Given the description of an element on the screen output the (x, y) to click on. 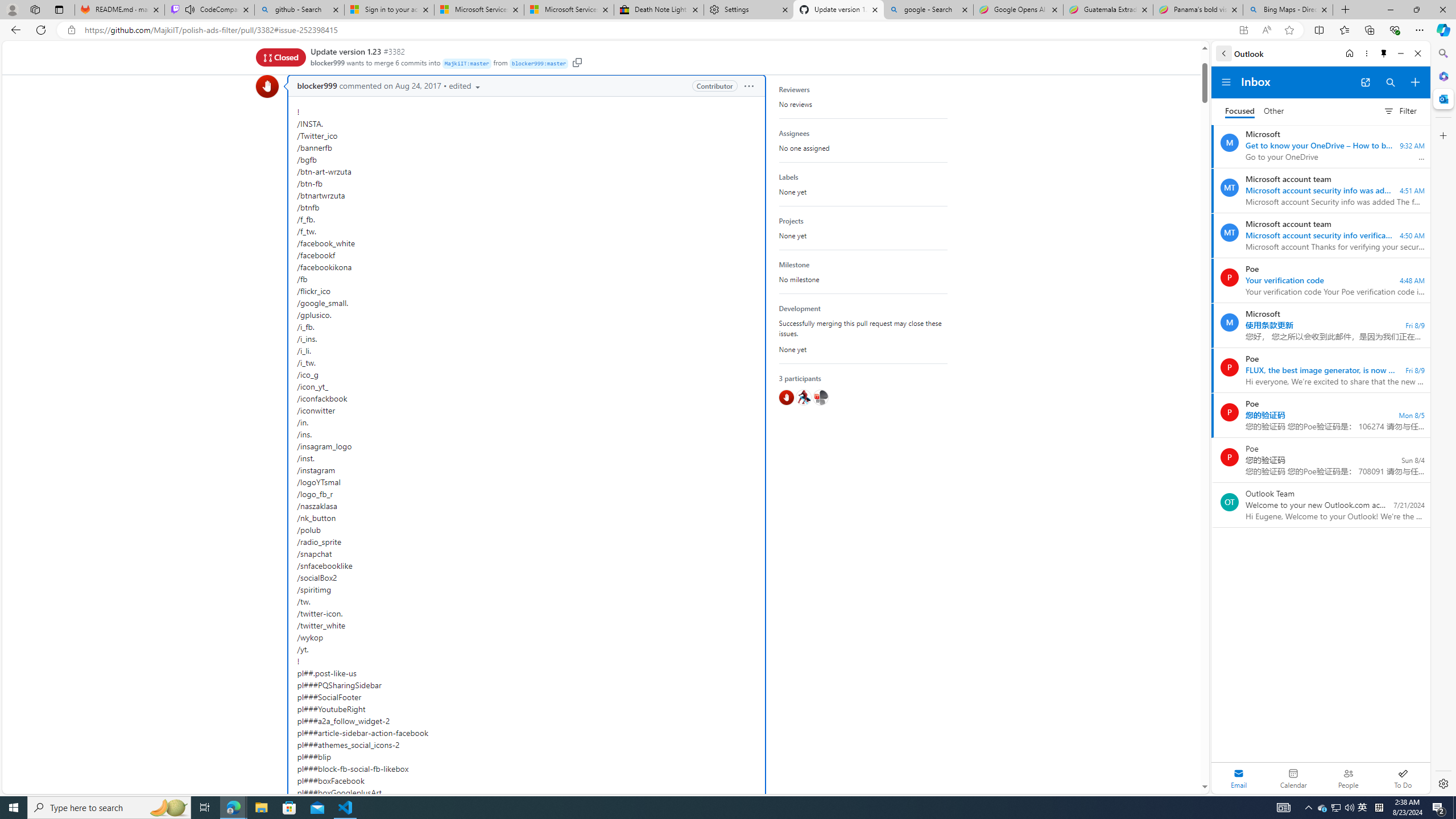
 Commits 6 (390, 54)
github - Search (298, 9)
 Files changed 1 (552, 54)
@blocker999 (785, 396)
on Aug 24, 2017 (411, 85)
To Do (1402, 777)
MajkiIT : master (466, 63)
